Given the description of an element on the screen output the (x, y) to click on. 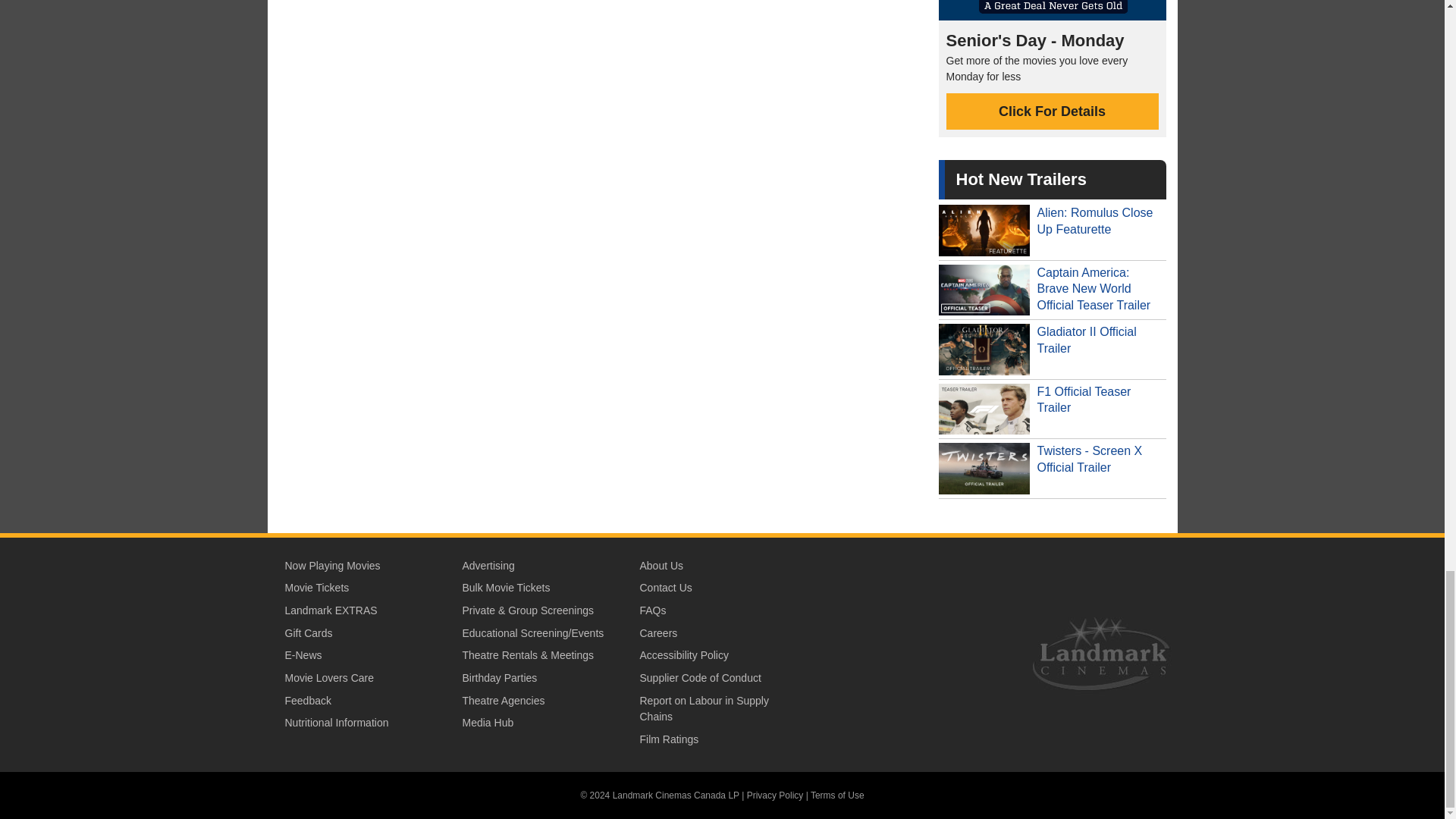
F1 Official Teaser Trailer (1052, 409)
Gladiator II Official Trailer (1052, 349)
Alien: Romulus Close Up Featurette (1052, 230)
Click For Details (1052, 111)
Captain America: Brave New World Official Teaser Trailer (1052, 290)
Twisters - Screen X Official Trailer (1052, 467)
